Given the description of an element on the screen output the (x, y) to click on. 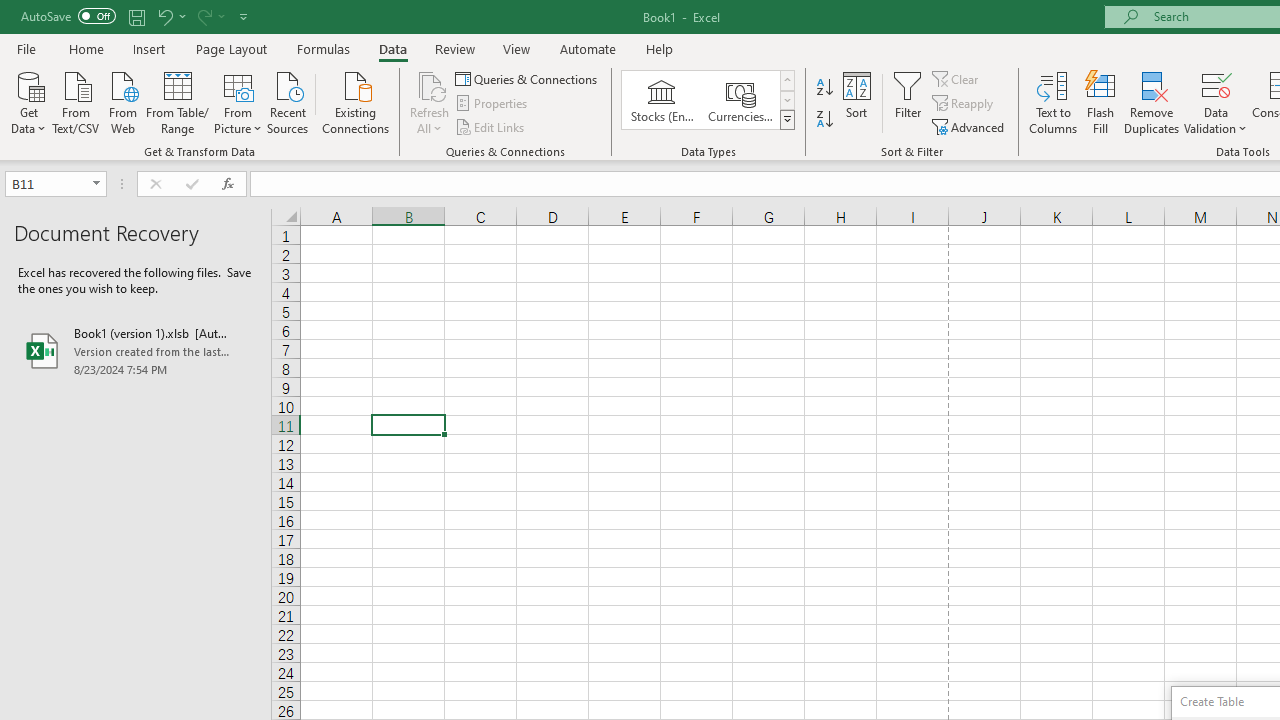
Currencies (English) (740, 100)
Properties (492, 103)
Queries & Connections (527, 78)
Existing Connections (355, 101)
Sort... (856, 102)
Clear (957, 78)
Edit Links (491, 126)
